Given the description of an element on the screen output the (x, y) to click on. 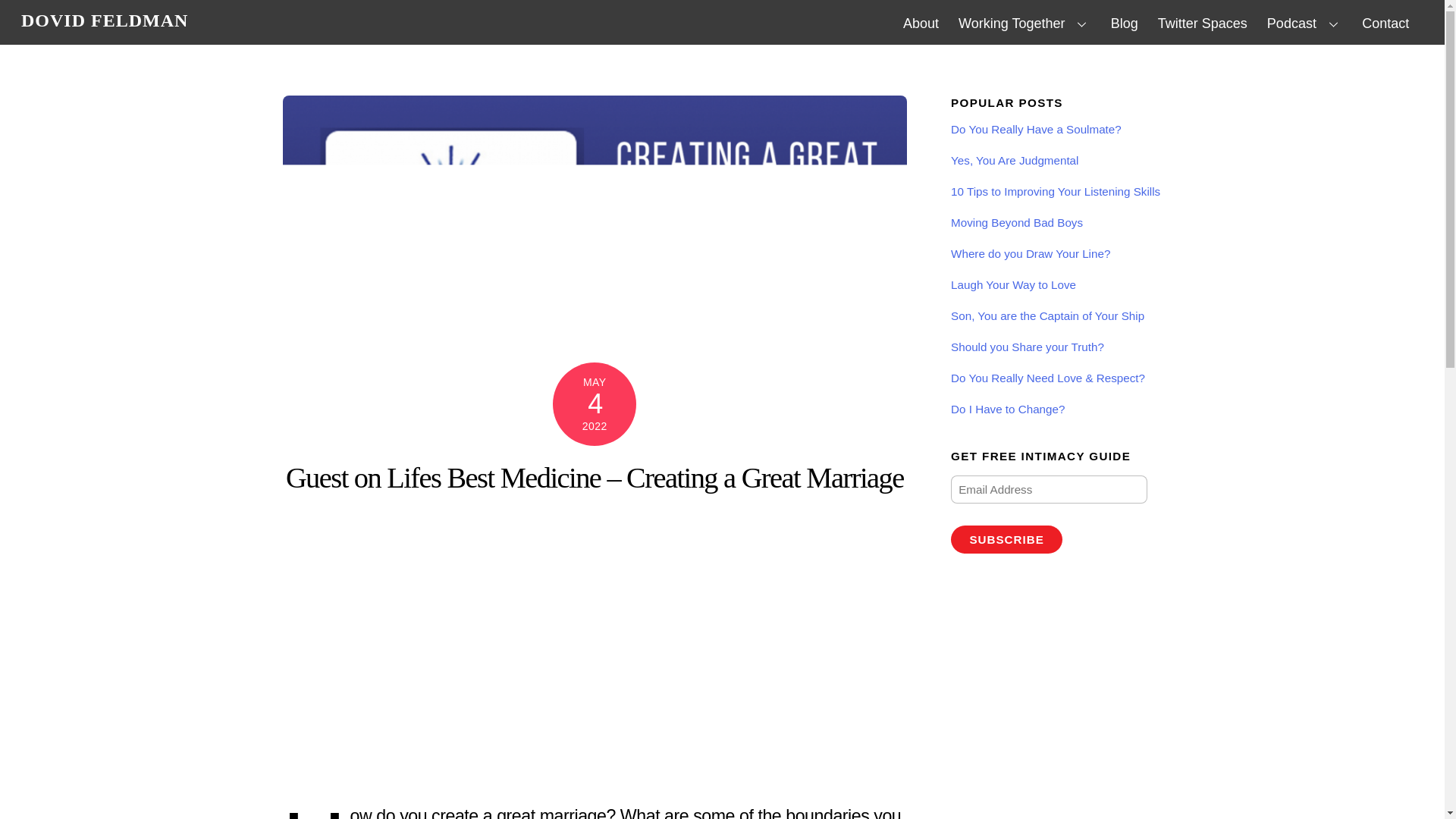
DOVID FELDMAN (722, 22)
Subscribe (104, 20)
Contact (1006, 539)
Podcast (1385, 22)
Blog (1305, 22)
About (1124, 22)
Twitter Spaces (921, 22)
Working Together (1202, 22)
Dovid Feldman (1024, 22)
